Given the description of an element on the screen output the (x, y) to click on. 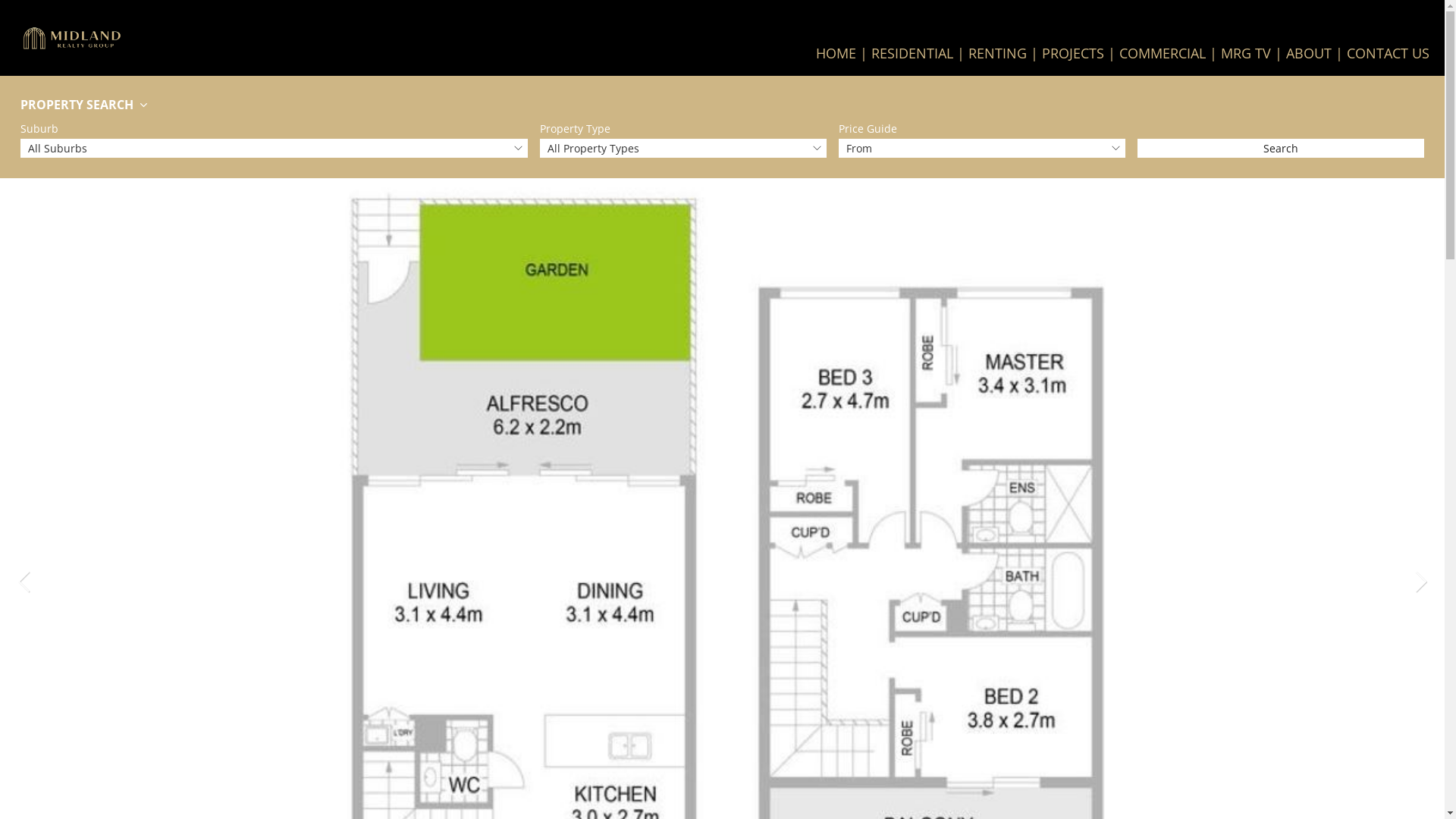
RESIDENTIAL Element type: text (919, 52)
COMMERCIAL Element type: text (1169, 52)
RENTING Element type: text (1004, 52)
HOME Element type: text (843, 52)
ABOUT Element type: text (1316, 52)
MRG TV Element type: text (1253, 52)
CONTACT US Element type: text (1387, 52)
PROJECTS Element type: text (1080, 52)
Search Element type: text (1280, 147)
